Given the description of an element on the screen output the (x, y) to click on. 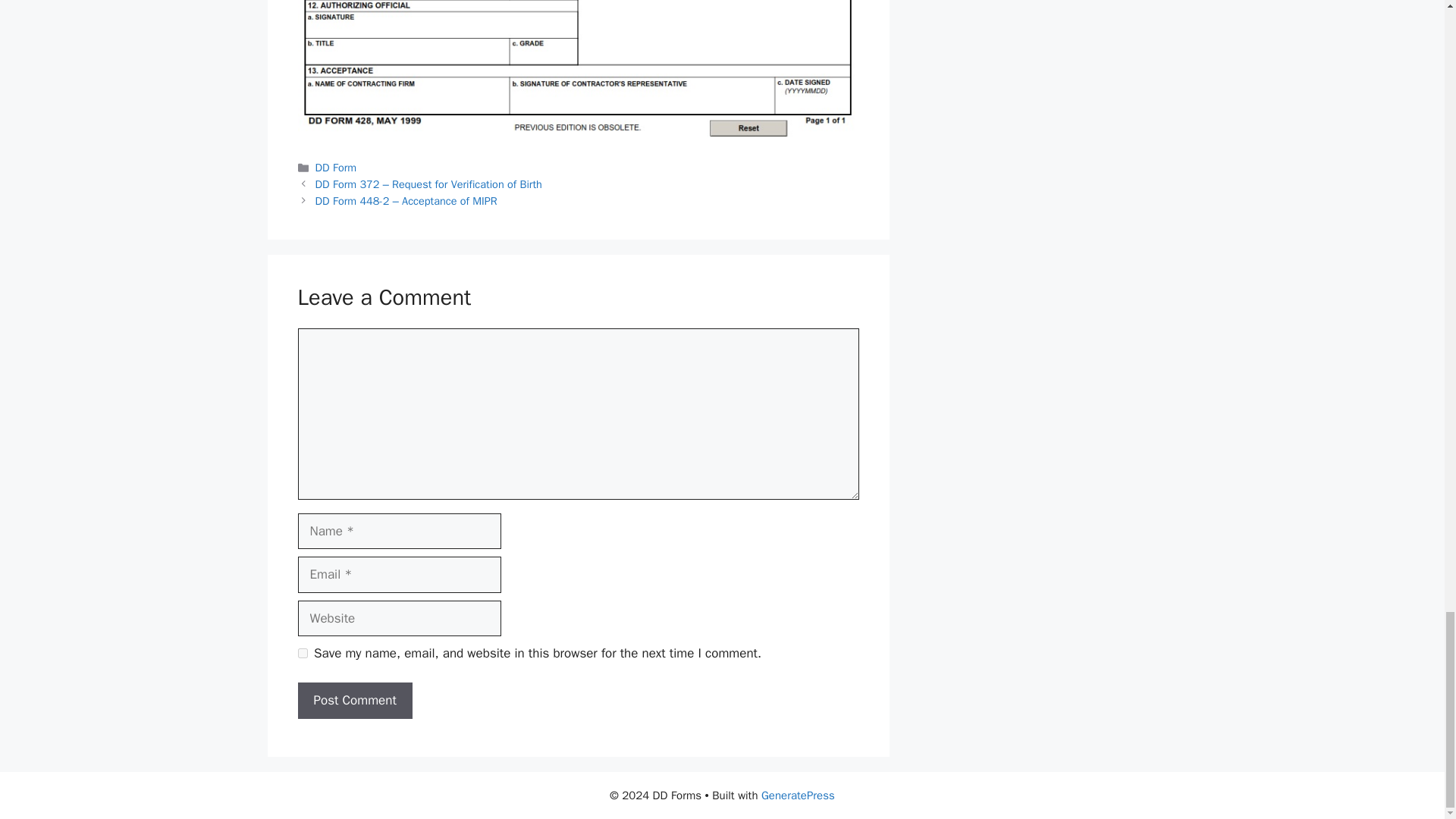
Post Comment (354, 700)
Post Comment (354, 700)
yes (302, 653)
GeneratePress (797, 795)
DD Form (335, 167)
